Given the description of an element on the screen output the (x, y) to click on. 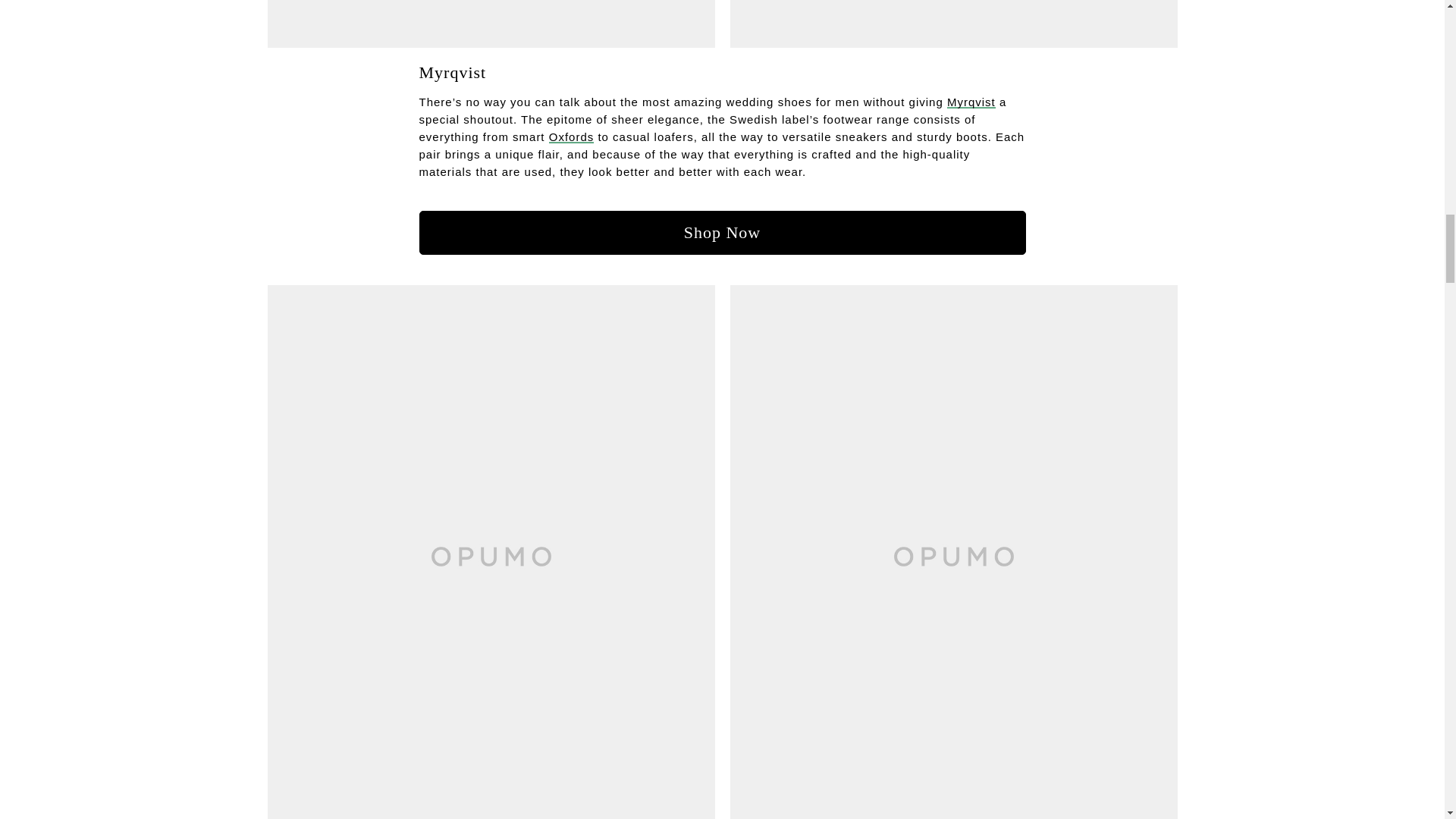
Shop Now (722, 232)
Oxfords (571, 136)
Myrqvist (971, 101)
